Given the description of an element on the screen output the (x, y) to click on. 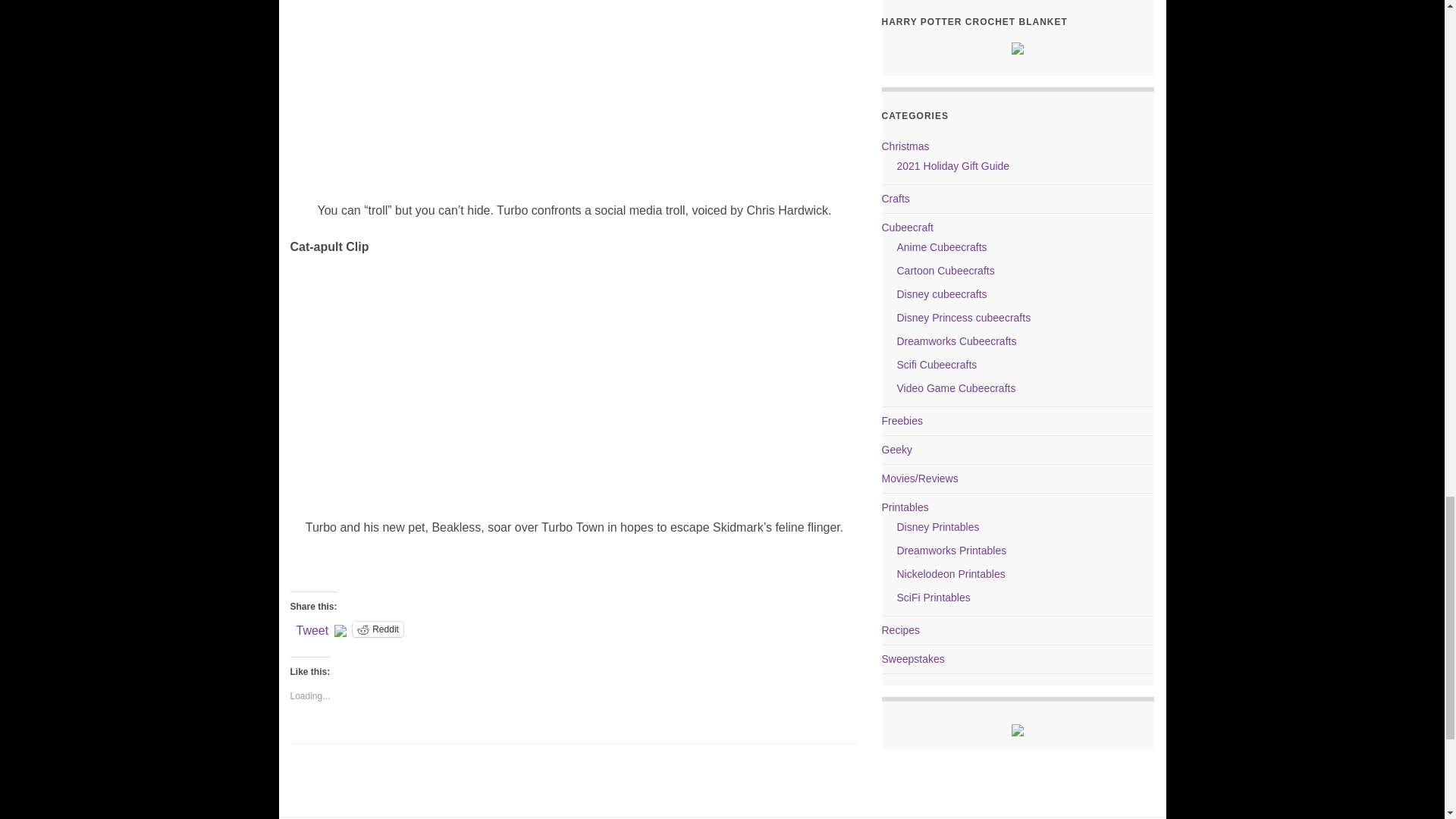
Click to share on Reddit (377, 629)
